Given the description of an element on the screen output the (x, y) to click on. 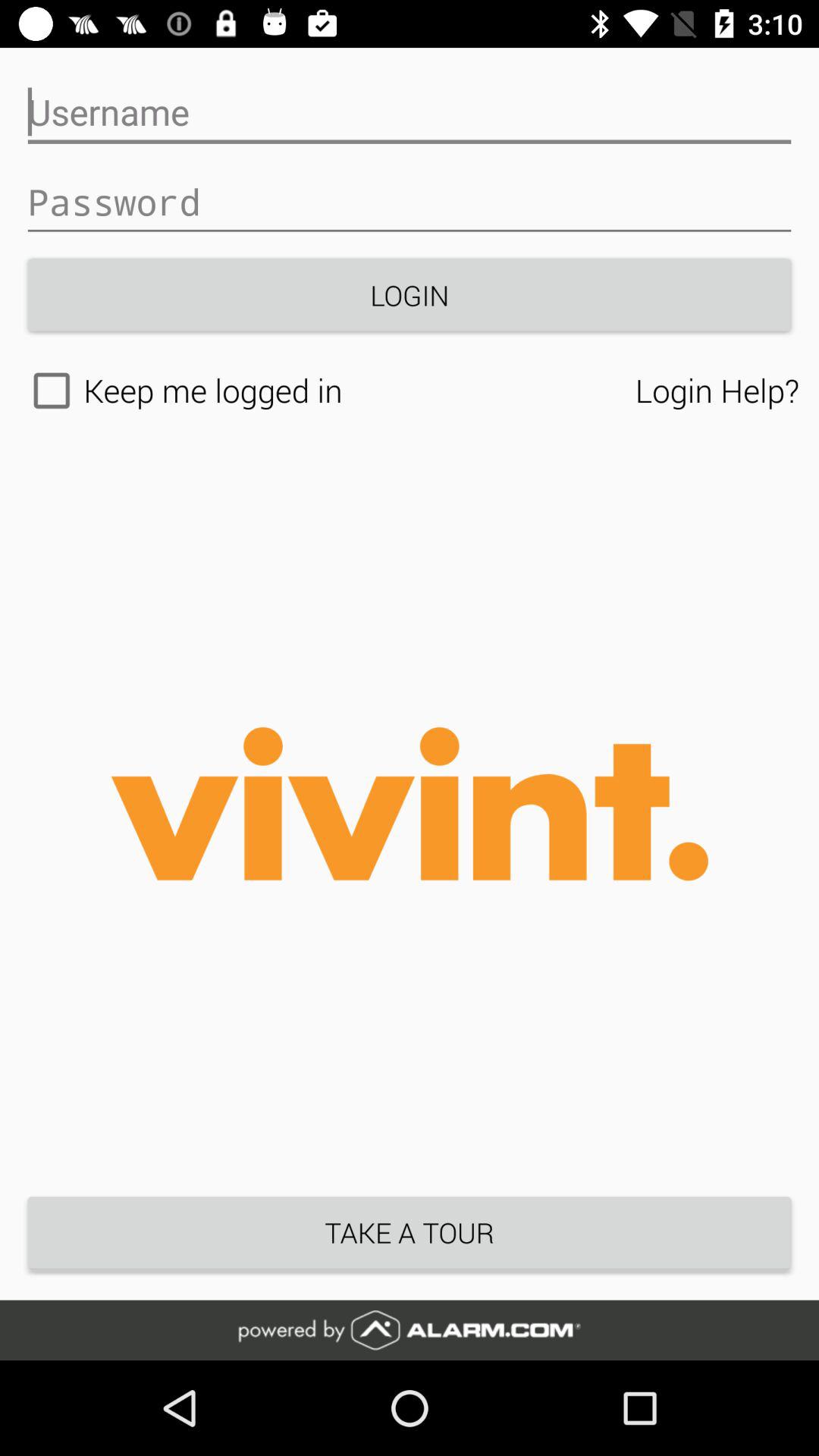
turn off icon below the login (327, 390)
